Given the description of an element on the screen output the (x, y) to click on. 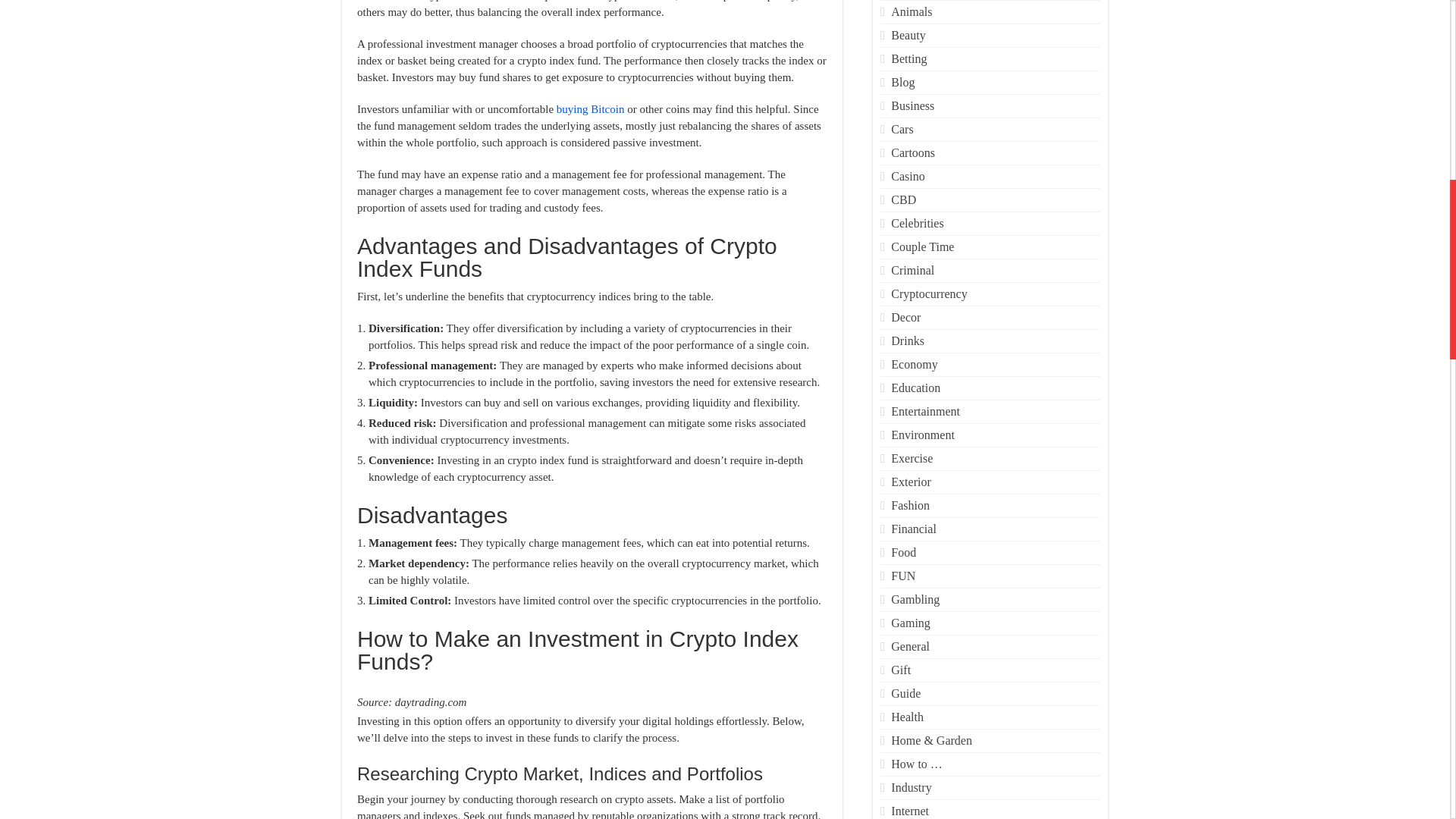
buying Bitcoin (590, 109)
Scroll To Top (1427, 60)
